Given the description of an element on the screen output the (x, y) to click on. 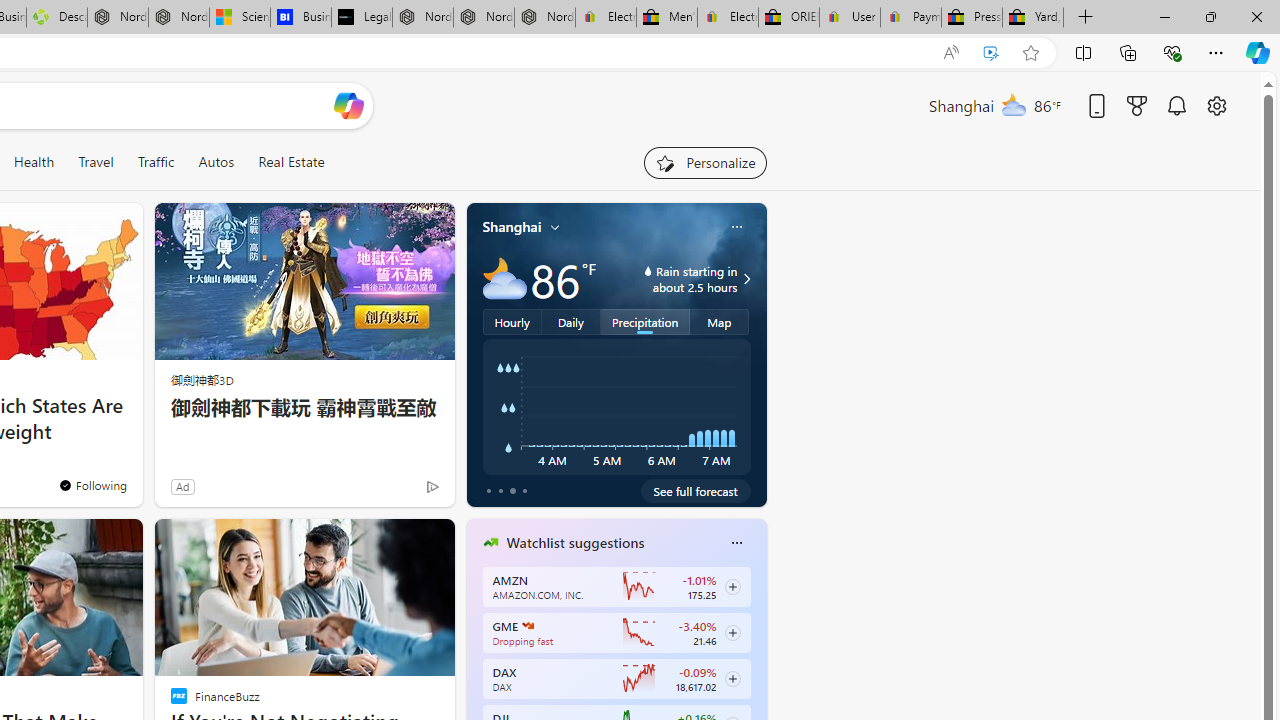
GAMESTOP CORP. (528, 625)
Personalize your feed" (704, 162)
Mostly cloudy (504, 278)
